Given the description of an element on the screen output the (x, y) to click on. 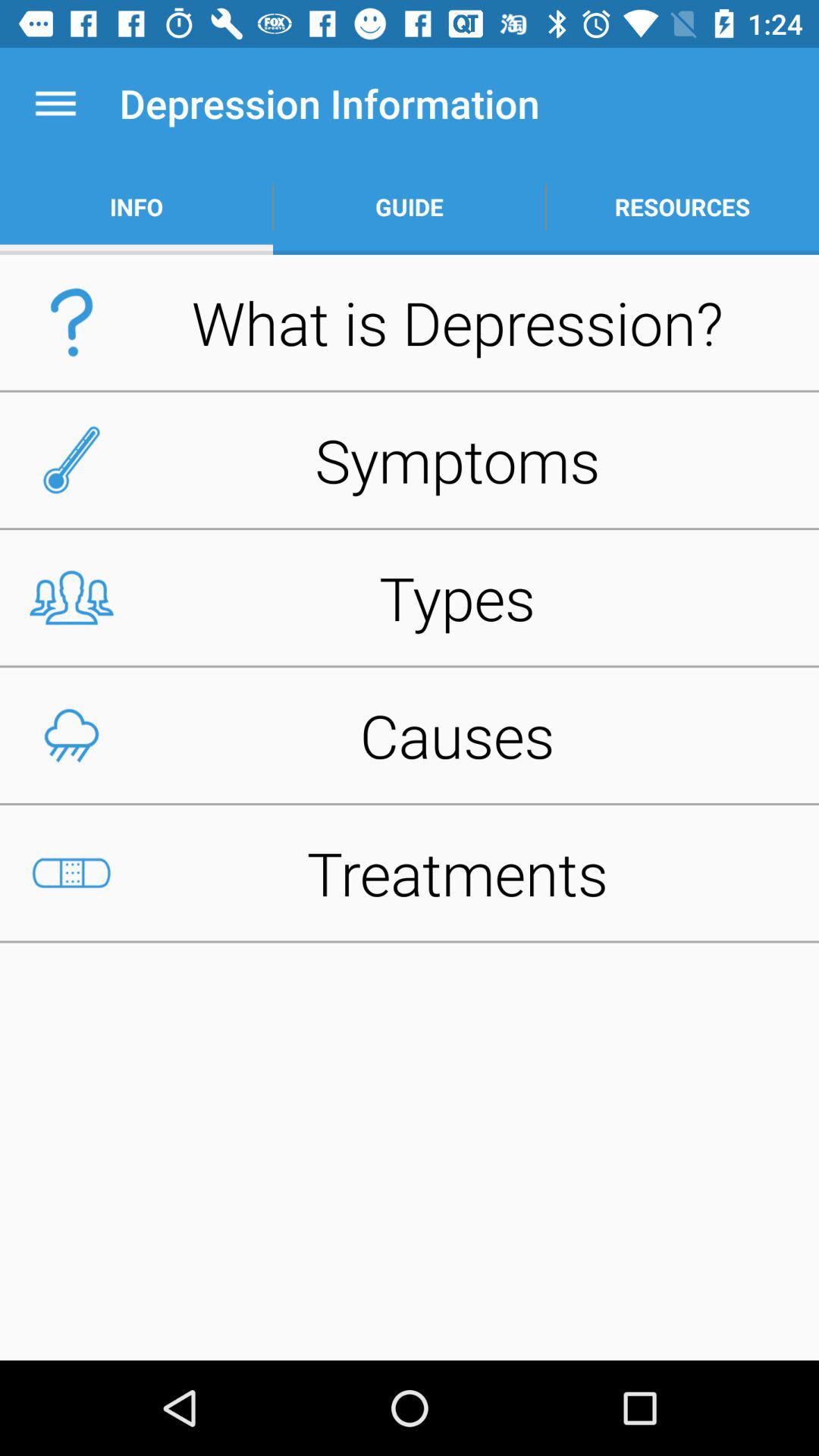
flip to resources app (682, 206)
